Given the description of an element on the screen output the (x, y) to click on. 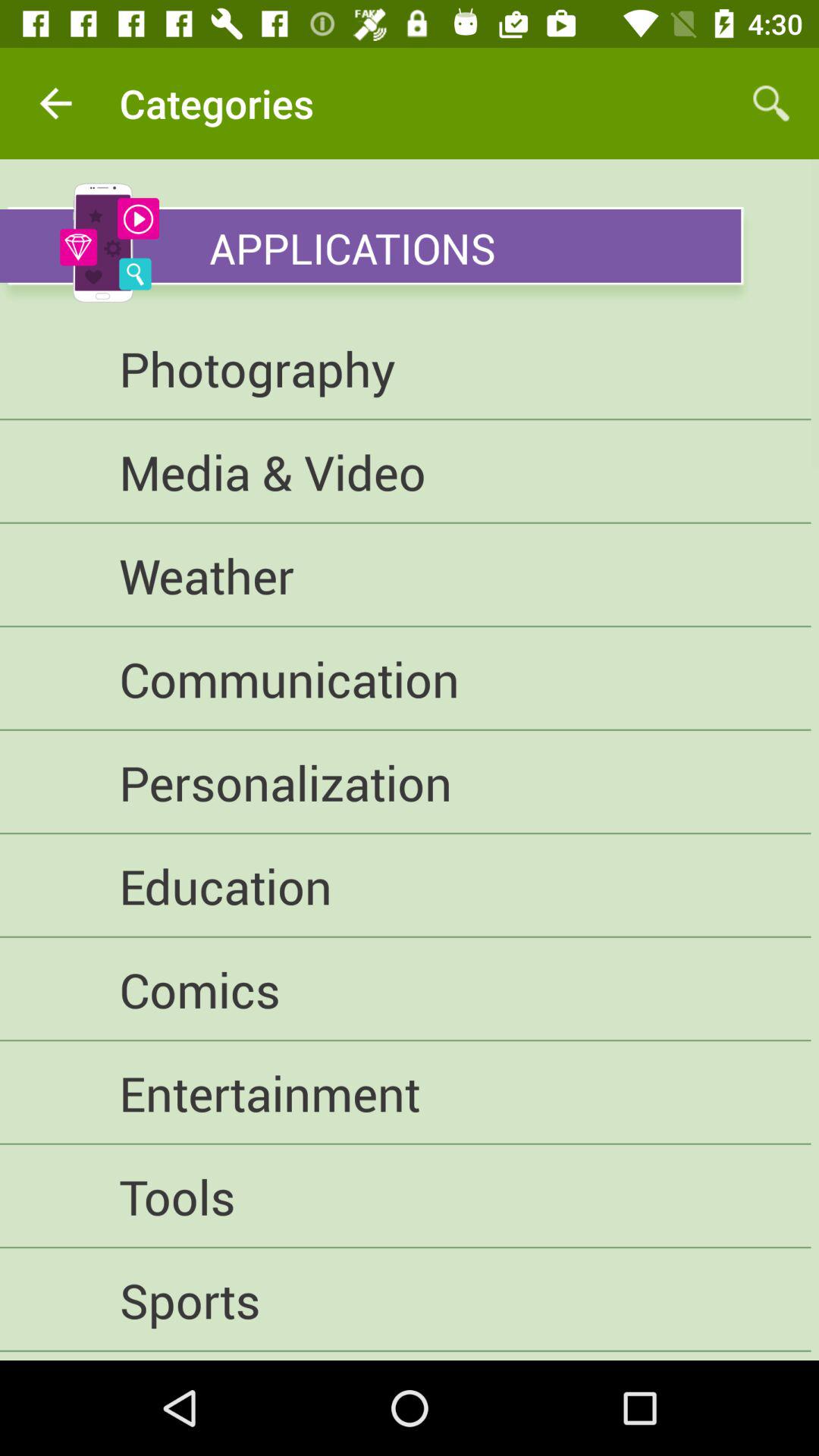
tap the item below weather (405, 678)
